Given the description of an element on the screen output the (x, y) to click on. 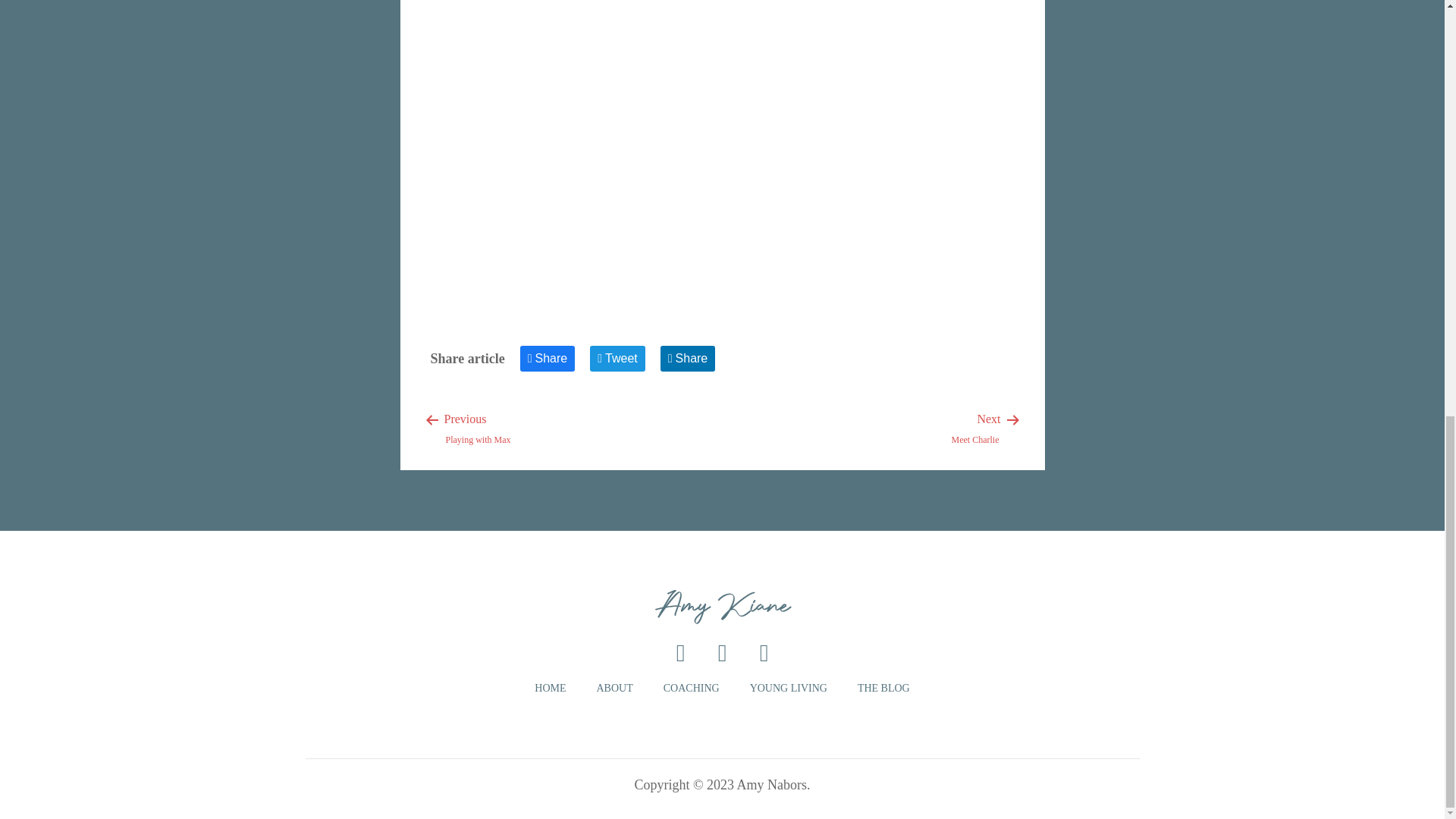
HOME (550, 688)
Share (975, 428)
Tweet (688, 358)
COACHING (478, 428)
THE BLOG (617, 358)
ABOUT (691, 688)
YOUNG LIVING (883, 688)
Share (613, 688)
